Given the description of an element on the screen output the (x, y) to click on. 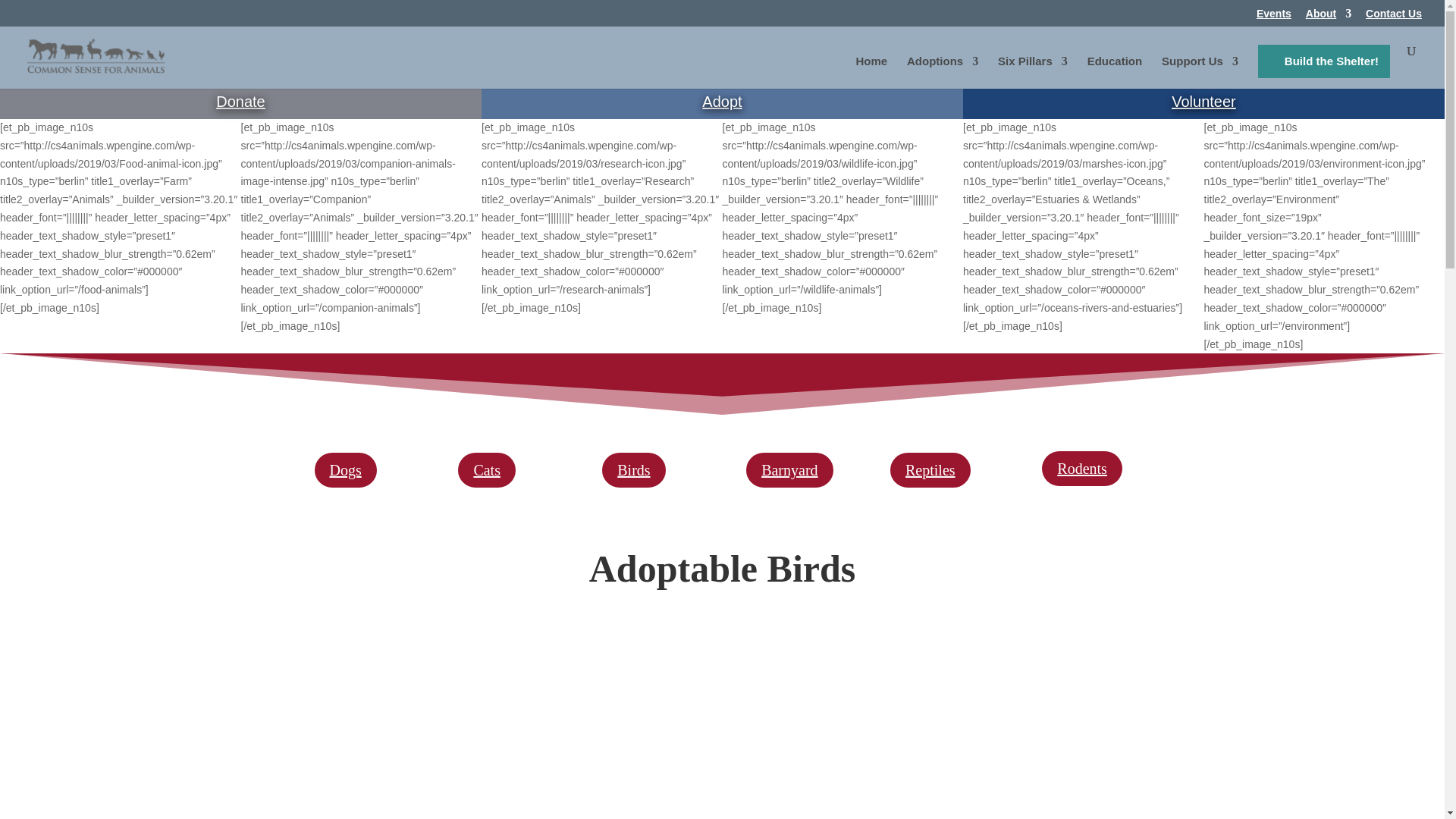
Six Pillars (1032, 72)
Adoptions (942, 72)
Home (871, 72)
Education (1114, 72)
Contact Us (1393, 16)
About (1328, 16)
Events (1273, 16)
Build the Shelter! (1323, 61)
Support Us (1200, 72)
